Given the description of an element on the screen output the (x, y) to click on. 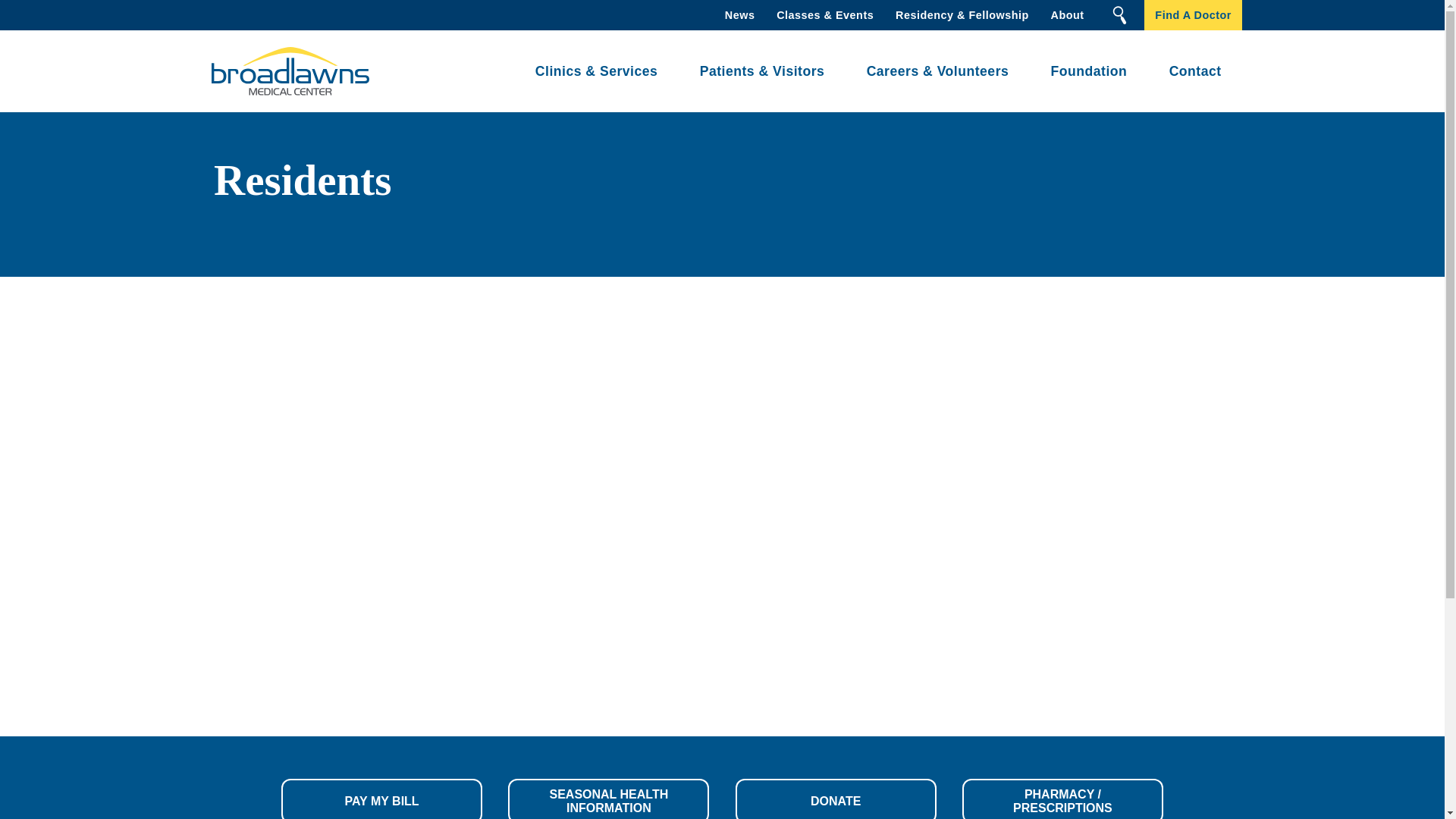
News (739, 15)
Search (1119, 15)
Broadlawns Medical Center (285, 71)
Find A Doctor (1192, 15)
About (1066, 15)
